Given the description of an element on the screen output the (x, y) to click on. 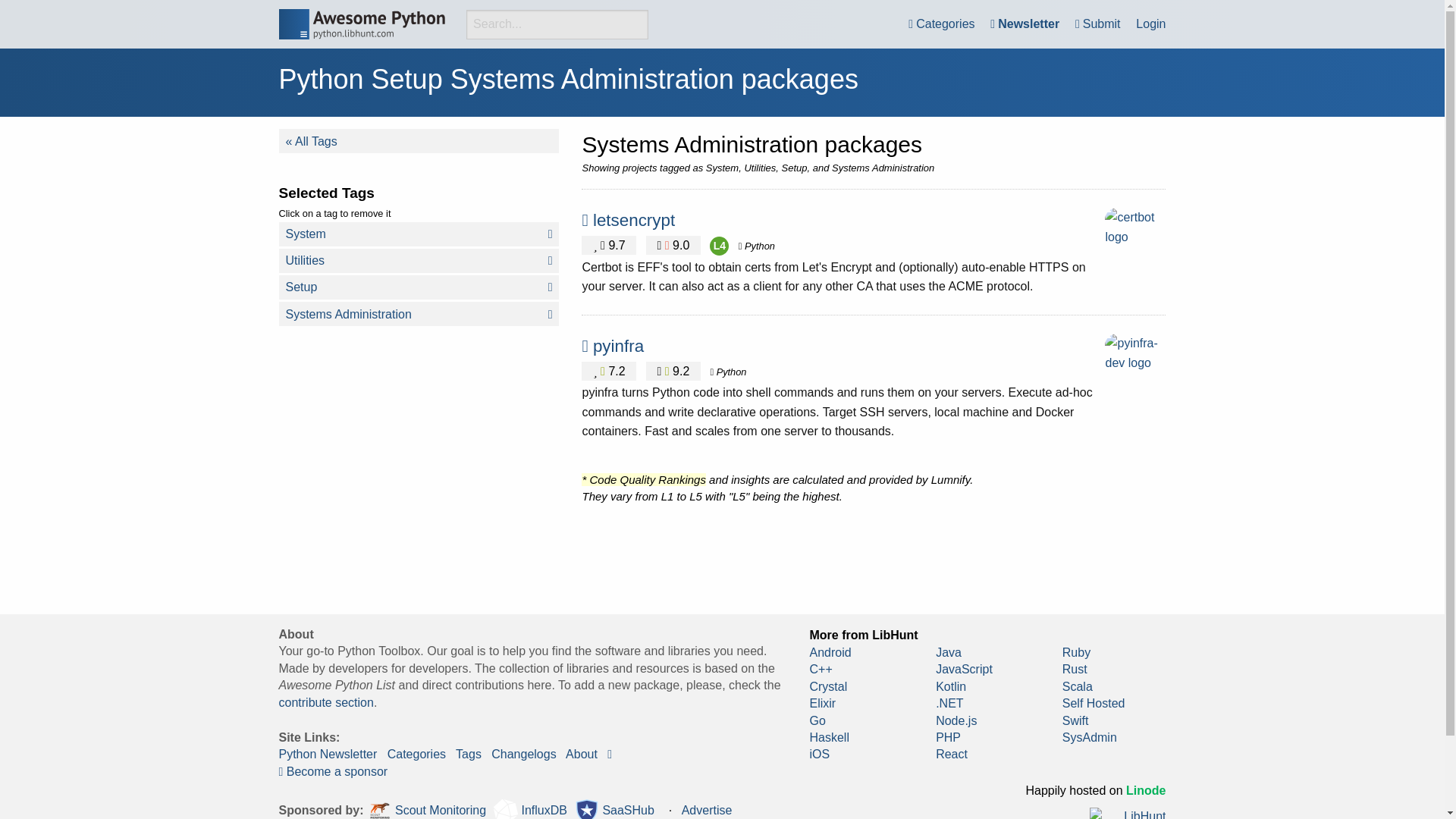
pyinfra (617, 345)
Awesome Python (362, 24)
Android (829, 652)
Changelogs (524, 753)
Categories (941, 24)
SaaSHub (614, 808)
Scout Monitoring (427, 808)
Tags (468, 753)
Submit (1098, 24)
letsencrypt (633, 220)
Primary programming language (756, 245)
Code Quality Rank provided by Lumnify (719, 245)
Systems Administration (418, 313)
About (581, 753)
Newsletter (1024, 24)
